Given the description of an element on the screen output the (x, y) to click on. 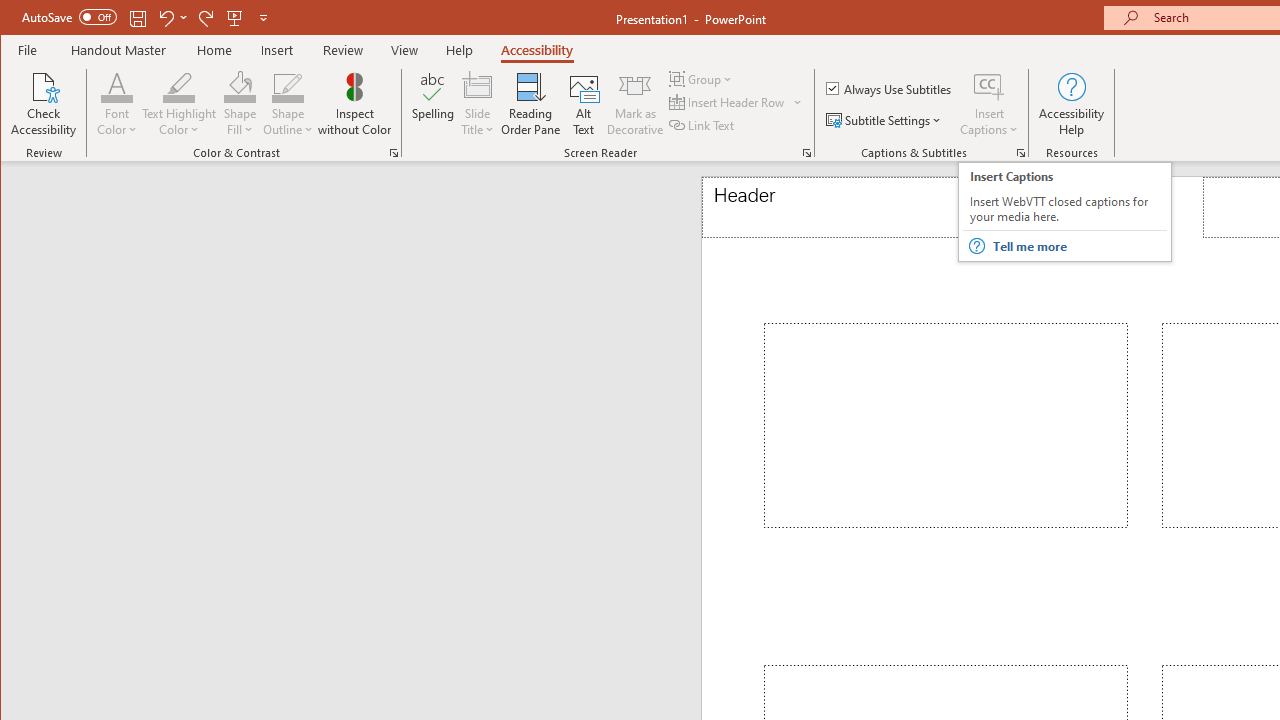
Subtitle Settings (885, 119)
Always Use Subtitles (890, 88)
Shape Fill Orange, Accent 2 (239, 86)
